Given the description of an element on the screen output the (x, y) to click on. 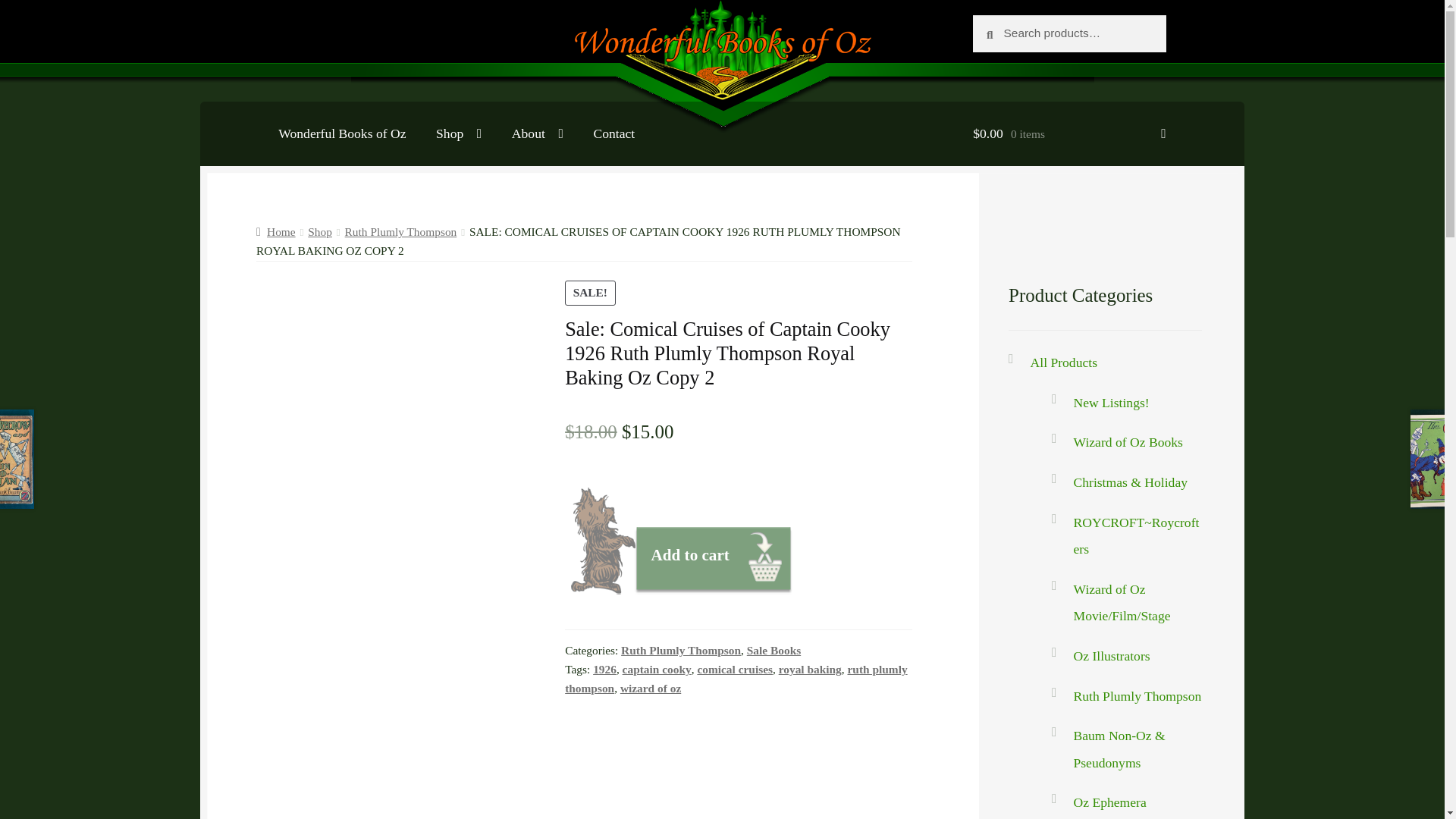
Wonderful Books of Oz (341, 133)
Contact (613, 133)
Shop (458, 133)
About (536, 133)
View your shopping cart (1069, 133)
